Given the description of an element on the screen output the (x, y) to click on. 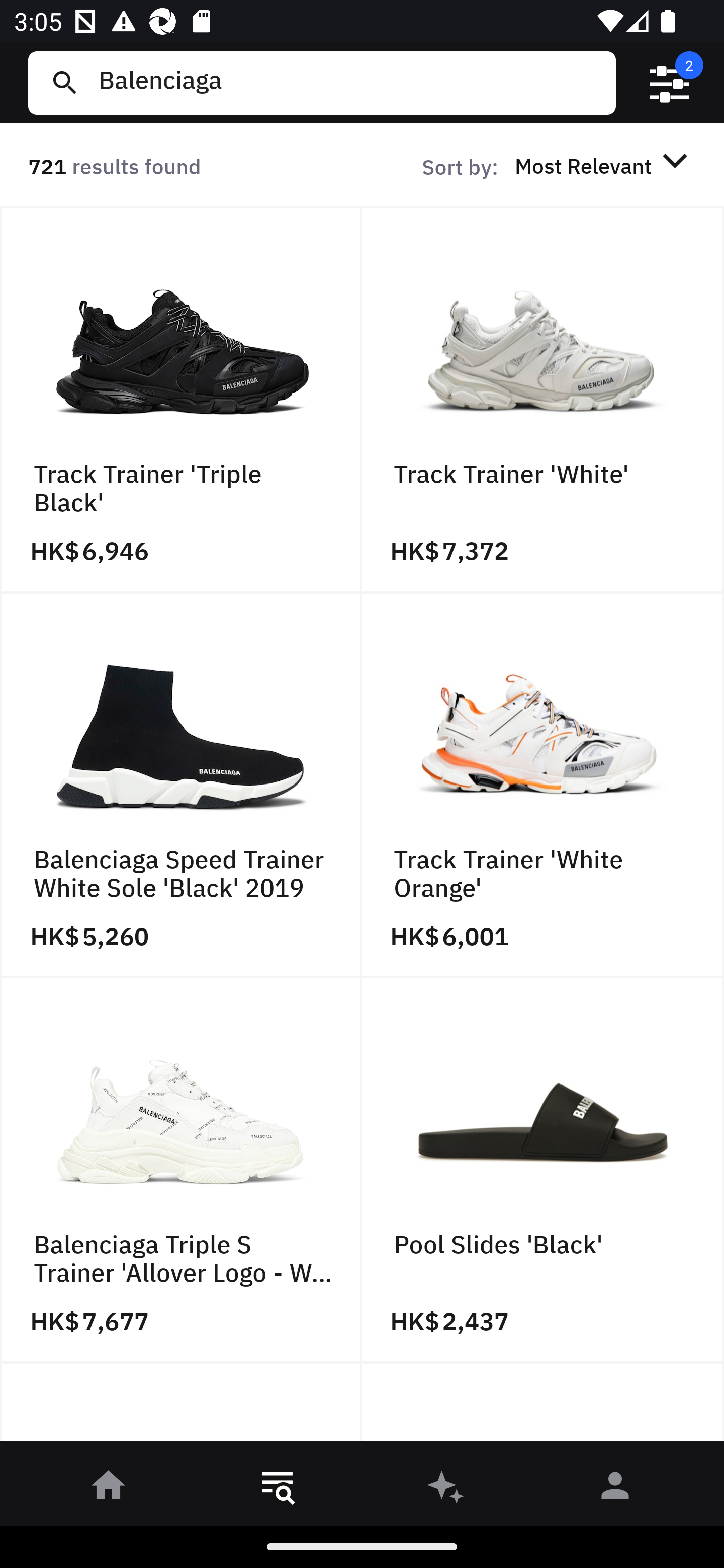
Balenciaga (349, 82)
 (669, 82)
Most Relevant  (604, 165)
Track Trainer 'Triple Black' HK$ 6,946 (181, 399)
Track Trainer 'White' HK$ 7,372 (543, 399)
Track Trainer 'White Orange' HK$ 6,001 (543, 785)
Pool Slides 'Black' HK$ 2,437 (543, 1171)
󰋜 (108, 1488)
󱎸 (277, 1488)
󰫢 (446, 1488)
󰀄 (615, 1488)
